Given the description of an element on the screen output the (x, y) to click on. 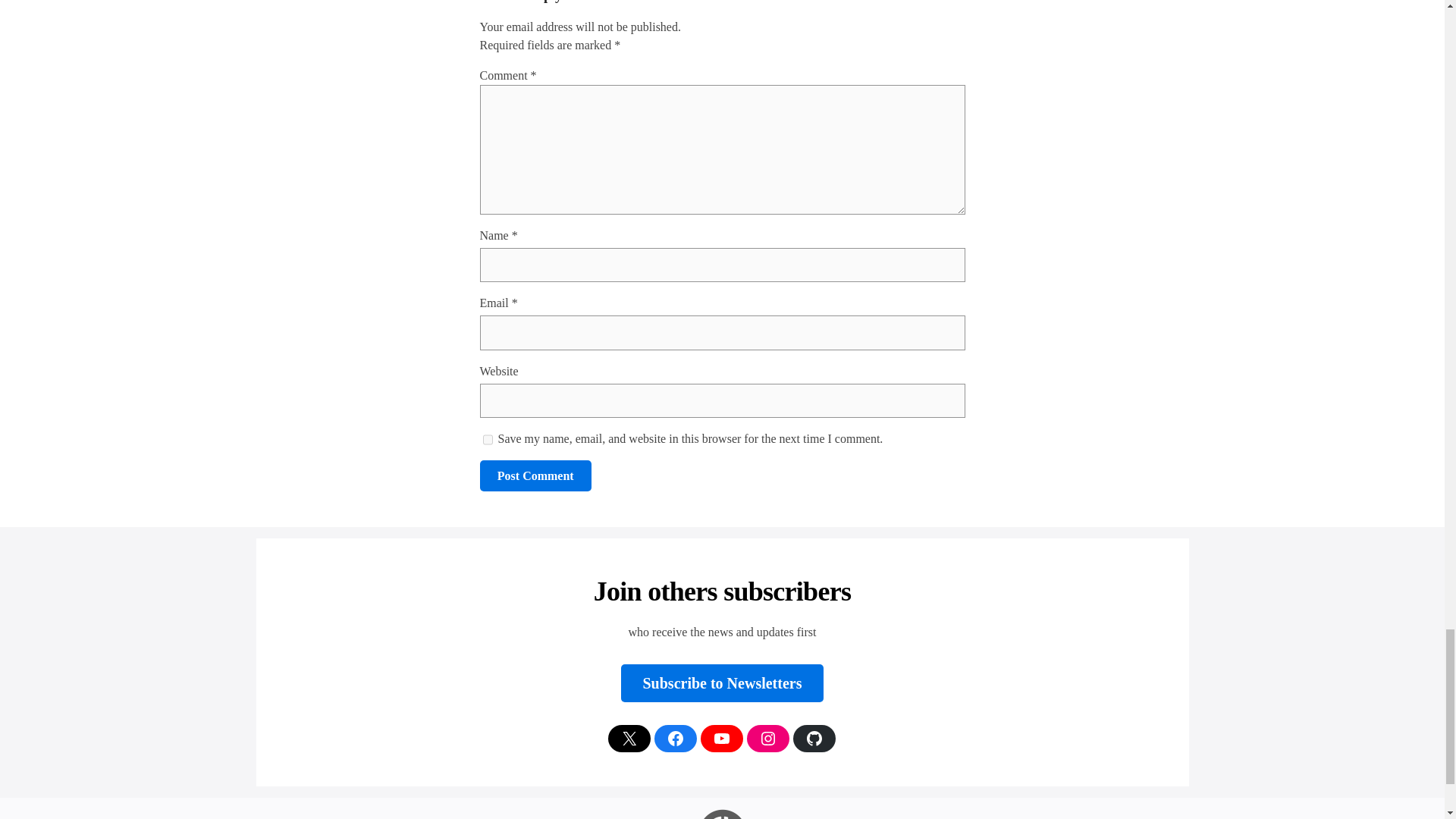
AtulHost on YouTube (721, 738)
AtulHost on X (629, 738)
Post Comment (535, 475)
AtulHost on Facebook (675, 738)
Subscribe to Newsletters (722, 683)
AtulHost on GitHub (814, 738)
Instagram (767, 738)
Post Comment (535, 475)
